Given the description of an element on the screen output the (x, y) to click on. 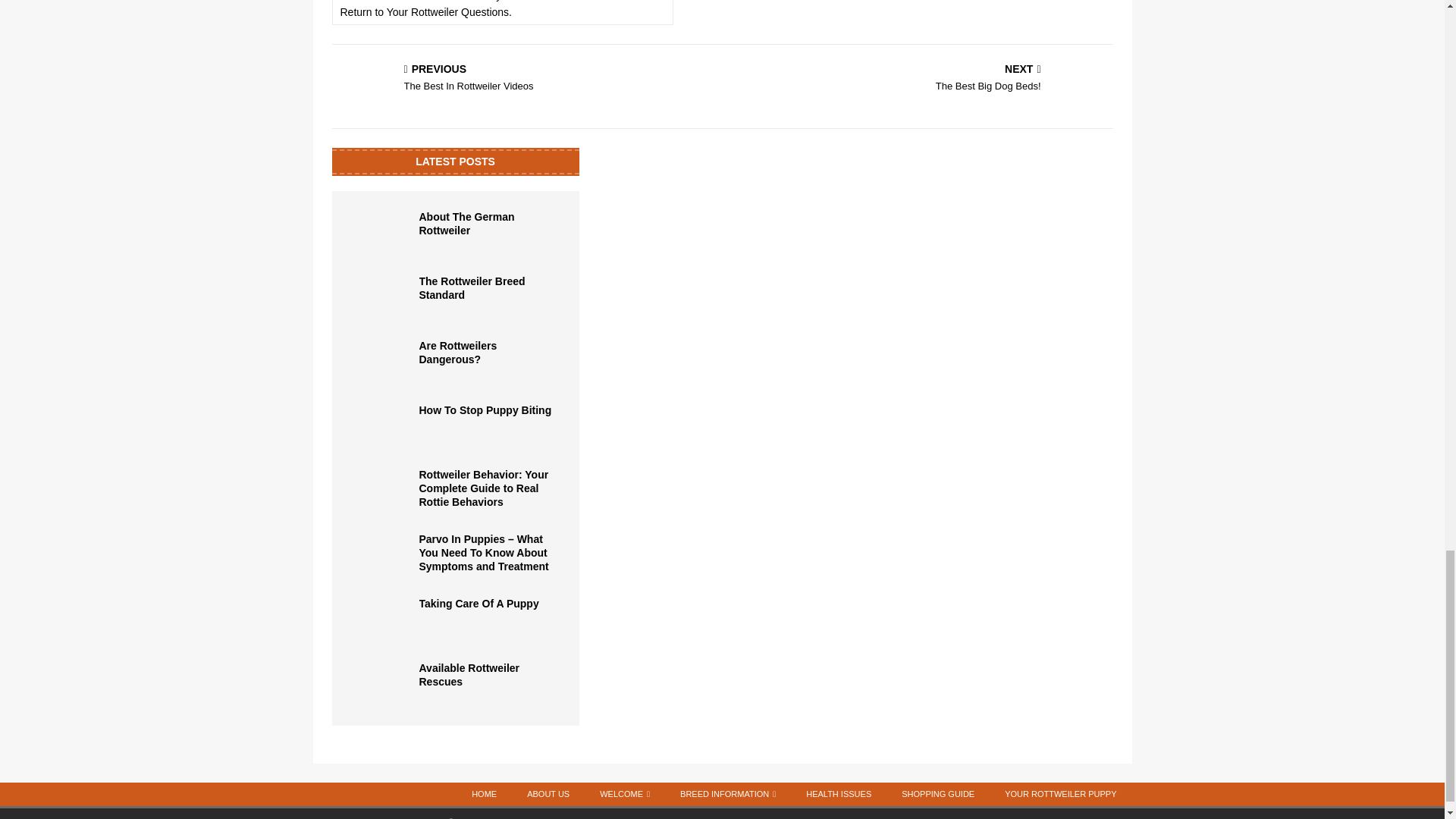
About The German Rottweiler (466, 223)
The Rottweiler Breed Standard (380, 297)
How To Stop Puppy Biting (380, 425)
The Rottweiler Breed Standard (471, 288)
Are Rottweilers Dangerous? (457, 352)
How To Stop Puppy Biting (485, 410)
Are Rottweilers Dangerous? (380, 361)
About The German Rottweiler (380, 232)
